Given the description of an element on the screen output the (x, y) to click on. 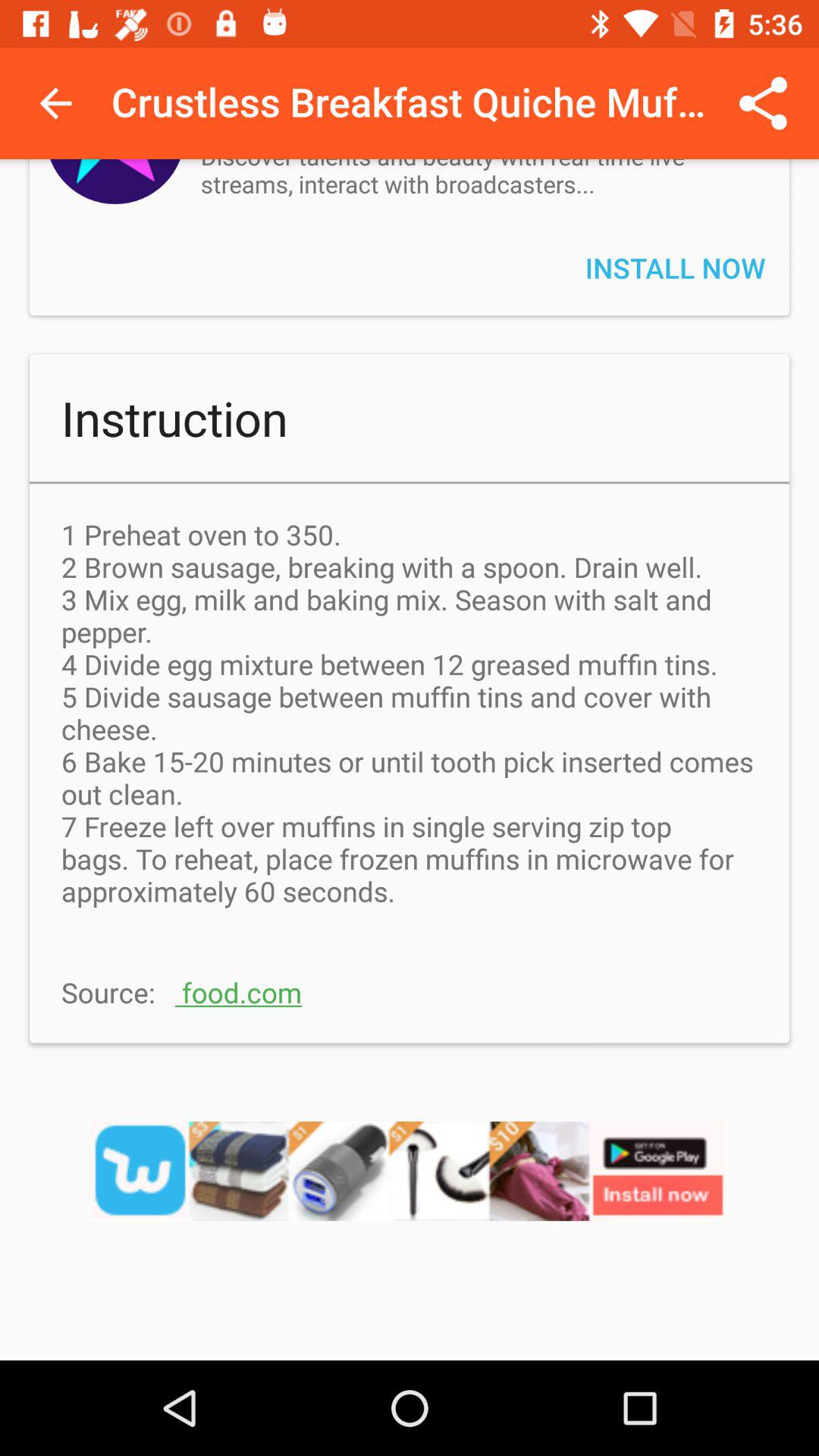
view advertisement (409, 1190)
